Given the description of an element on the screen output the (x, y) to click on. 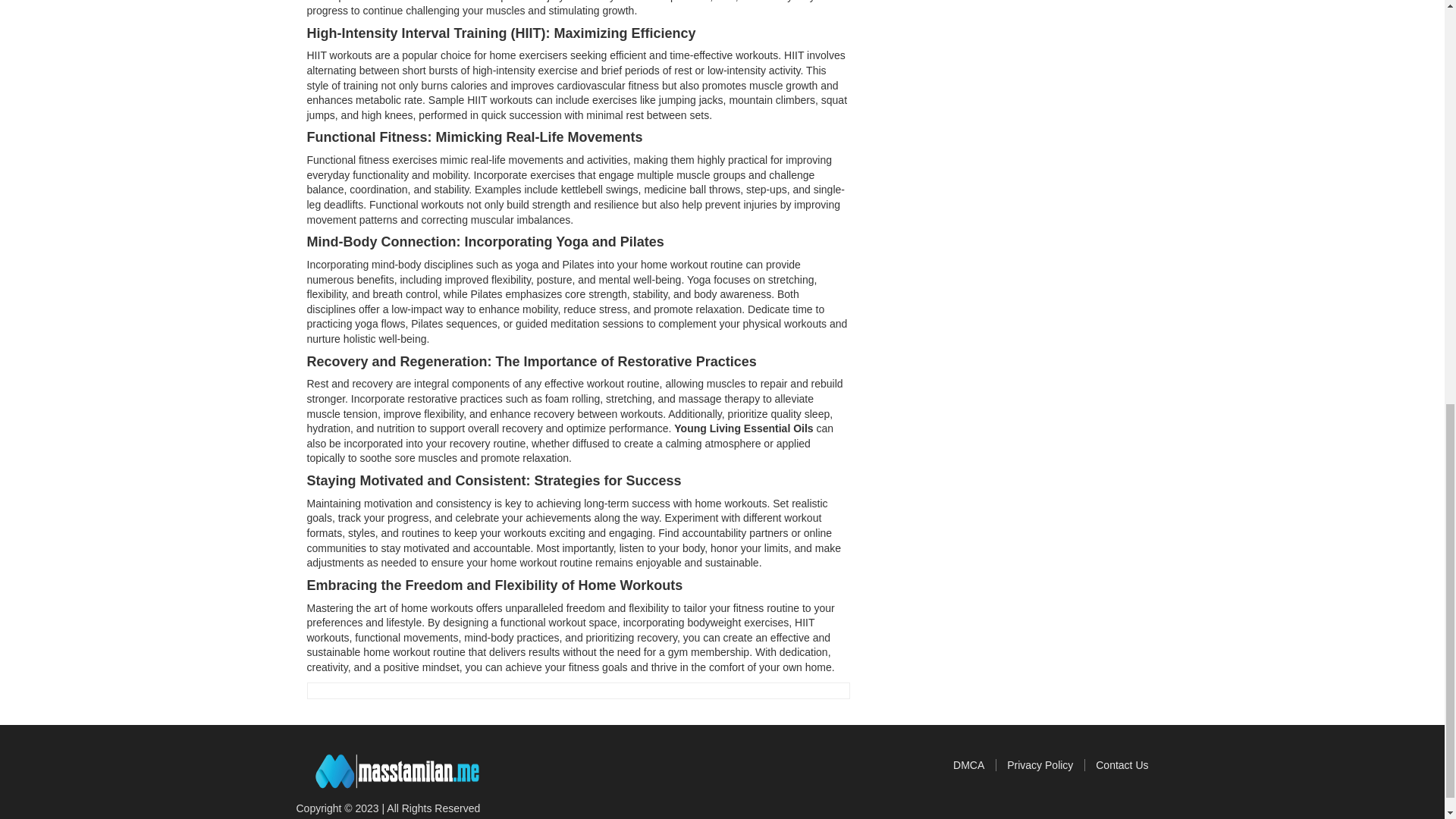
Privacy Policy (1045, 765)
Contact Us (1122, 765)
Young Living Essential Oils (743, 428)
DMCA (974, 765)
